Given the description of an element on the screen output the (x, y) to click on. 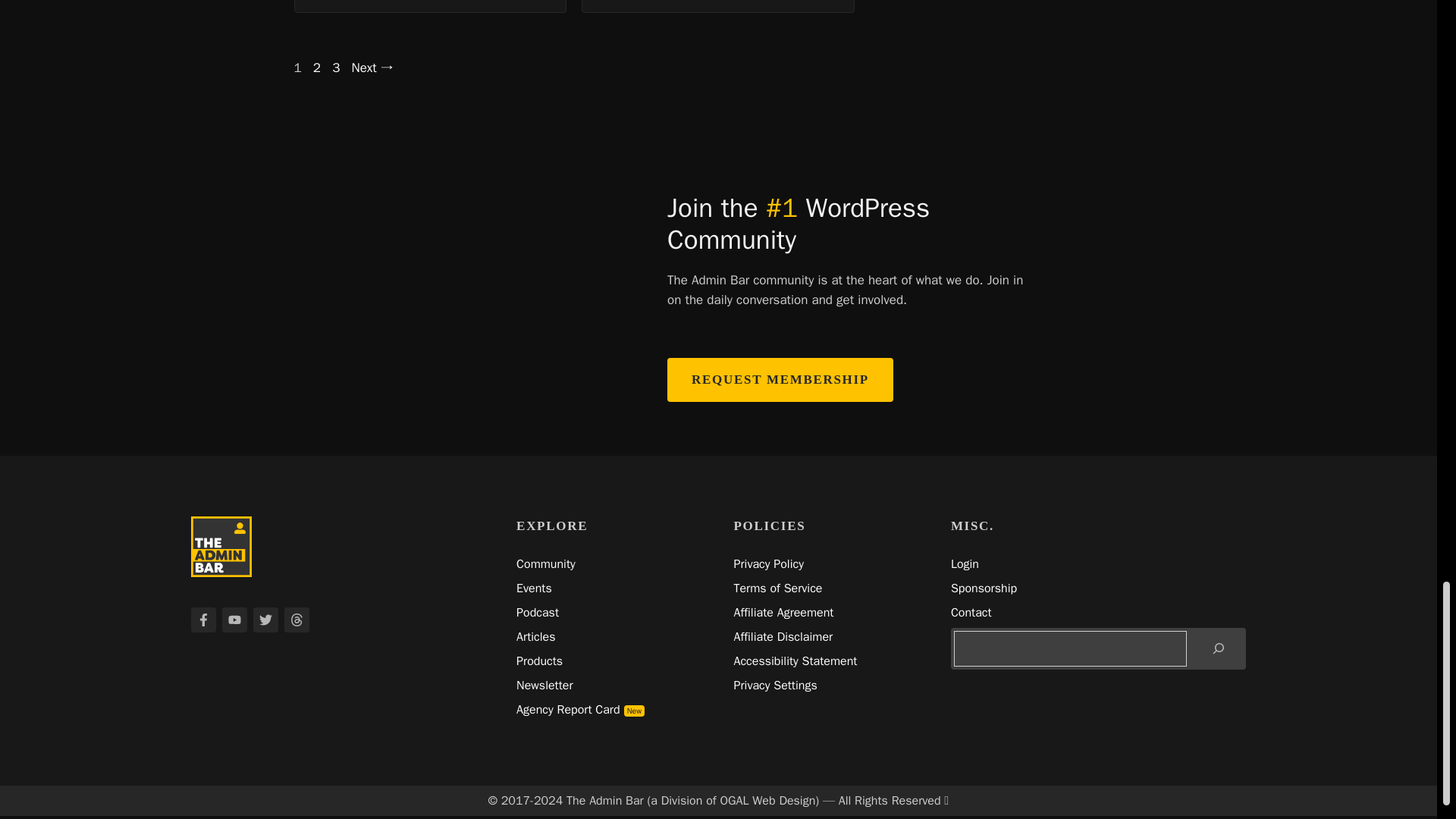
TAB Logo (220, 546)
